Given the description of an element on the screen output the (x, y) to click on. 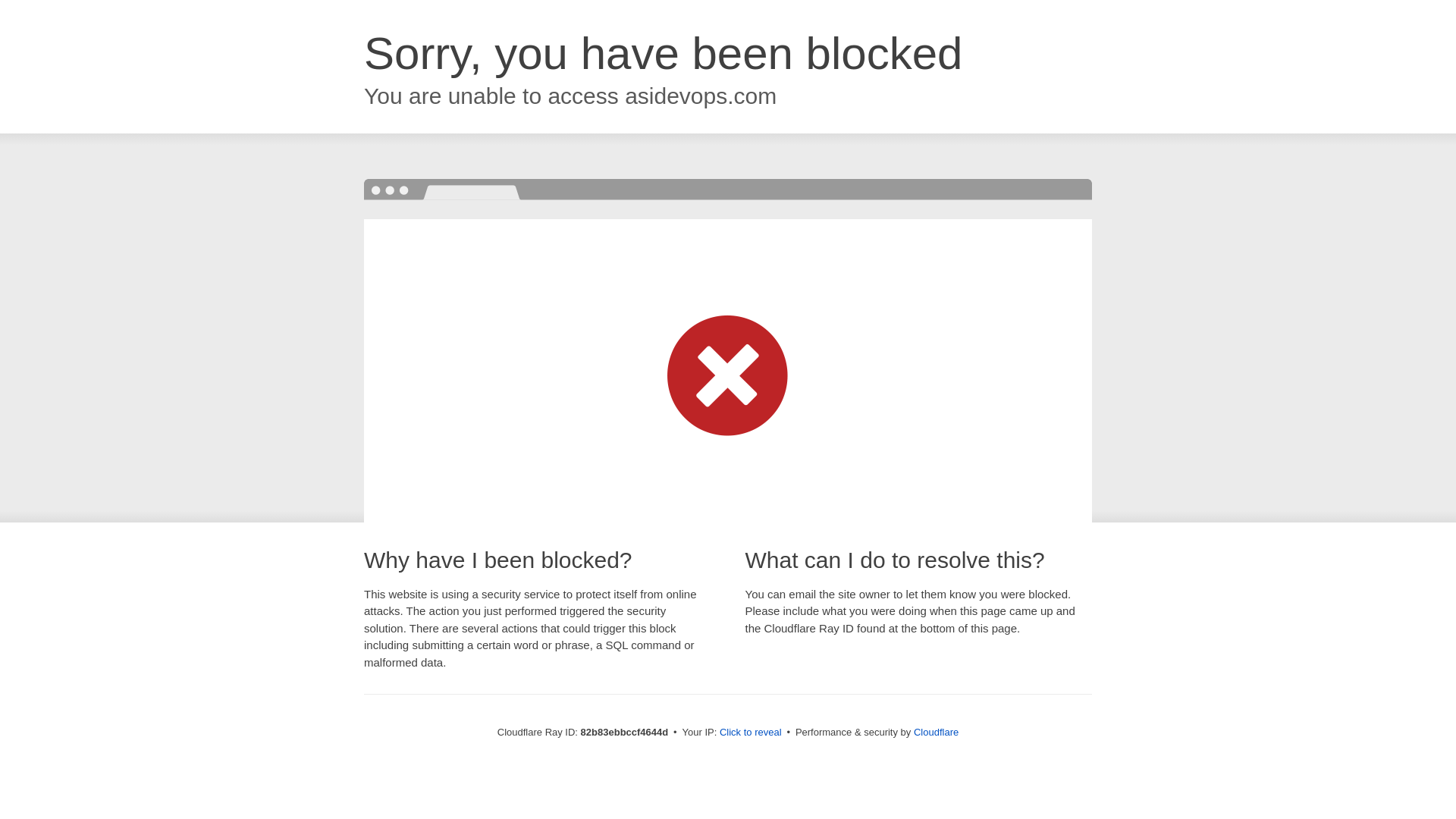
Click to reveal Element type: text (750, 732)
Cloudflare Element type: text (935, 731)
